Given the description of an element on the screen output the (x, y) to click on. 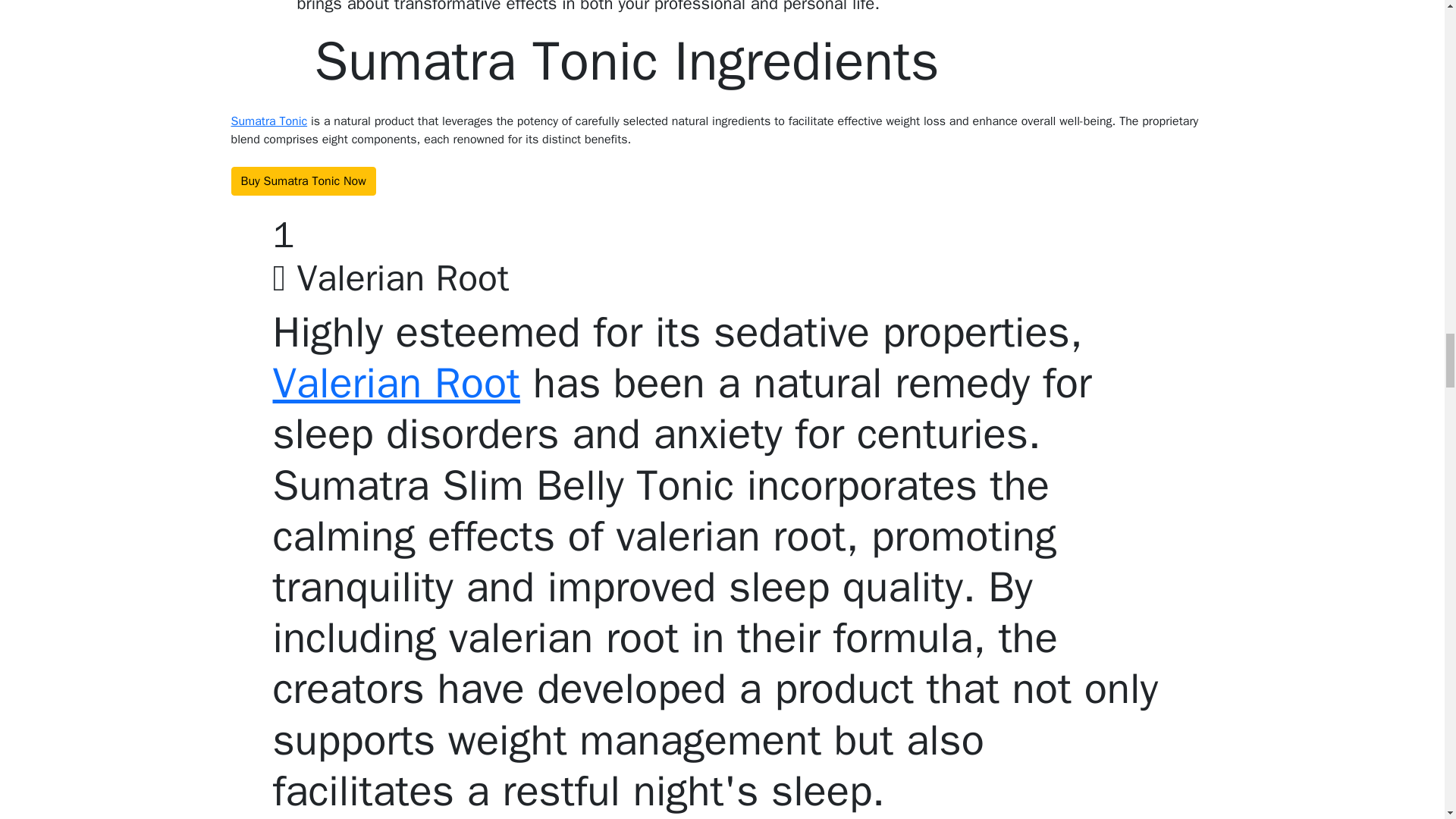
Buy Sumatra Tonic Now (302, 181)
Valerian Root (396, 383)
Sumatra Tonic (268, 120)
